Given the description of an element on the screen output the (x, y) to click on. 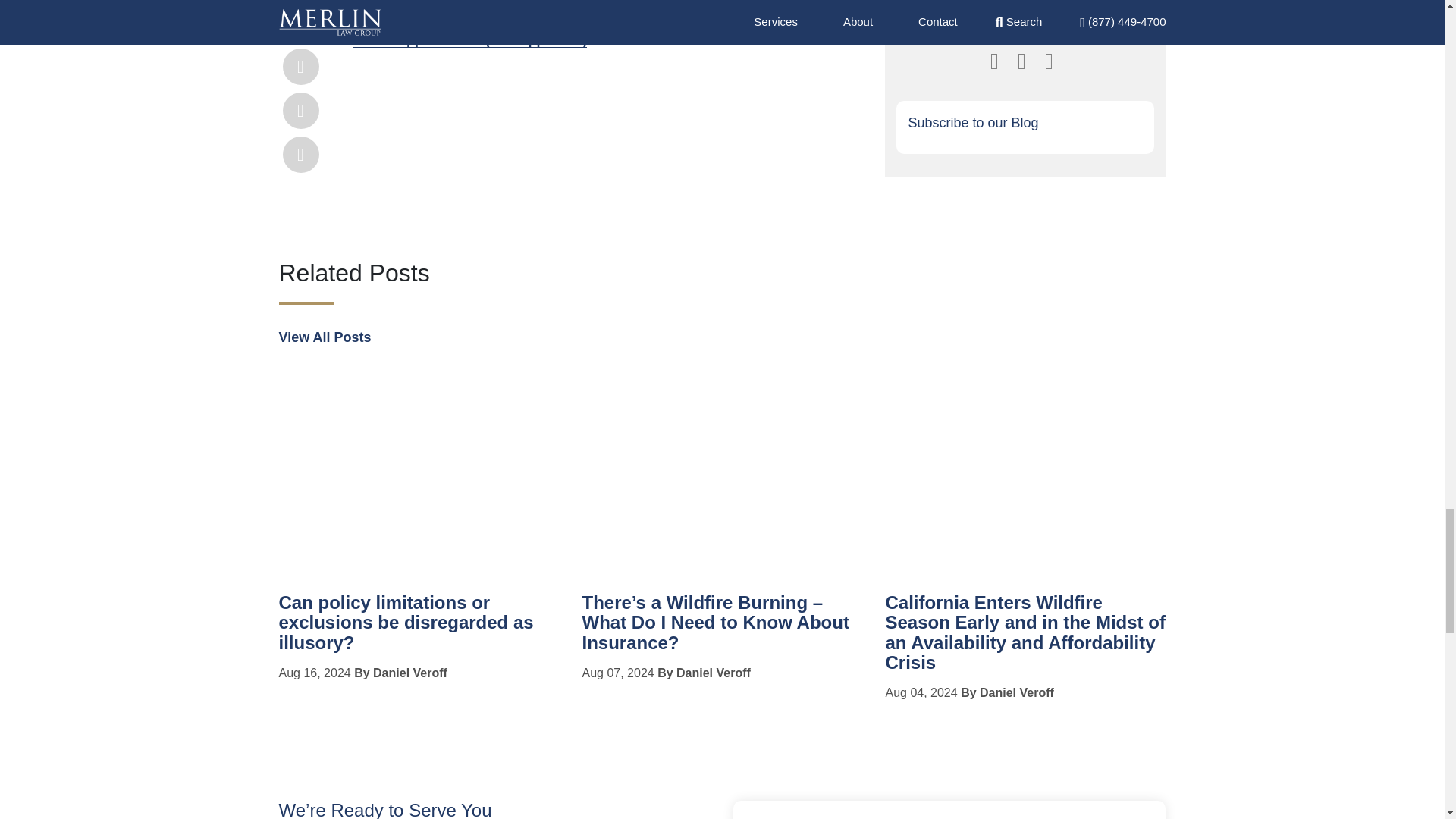
By Daniel Veroff (399, 672)
By Daniel Veroff (704, 672)
View All Posts (325, 337)
